Given the description of an element on the screen output the (x, y) to click on. 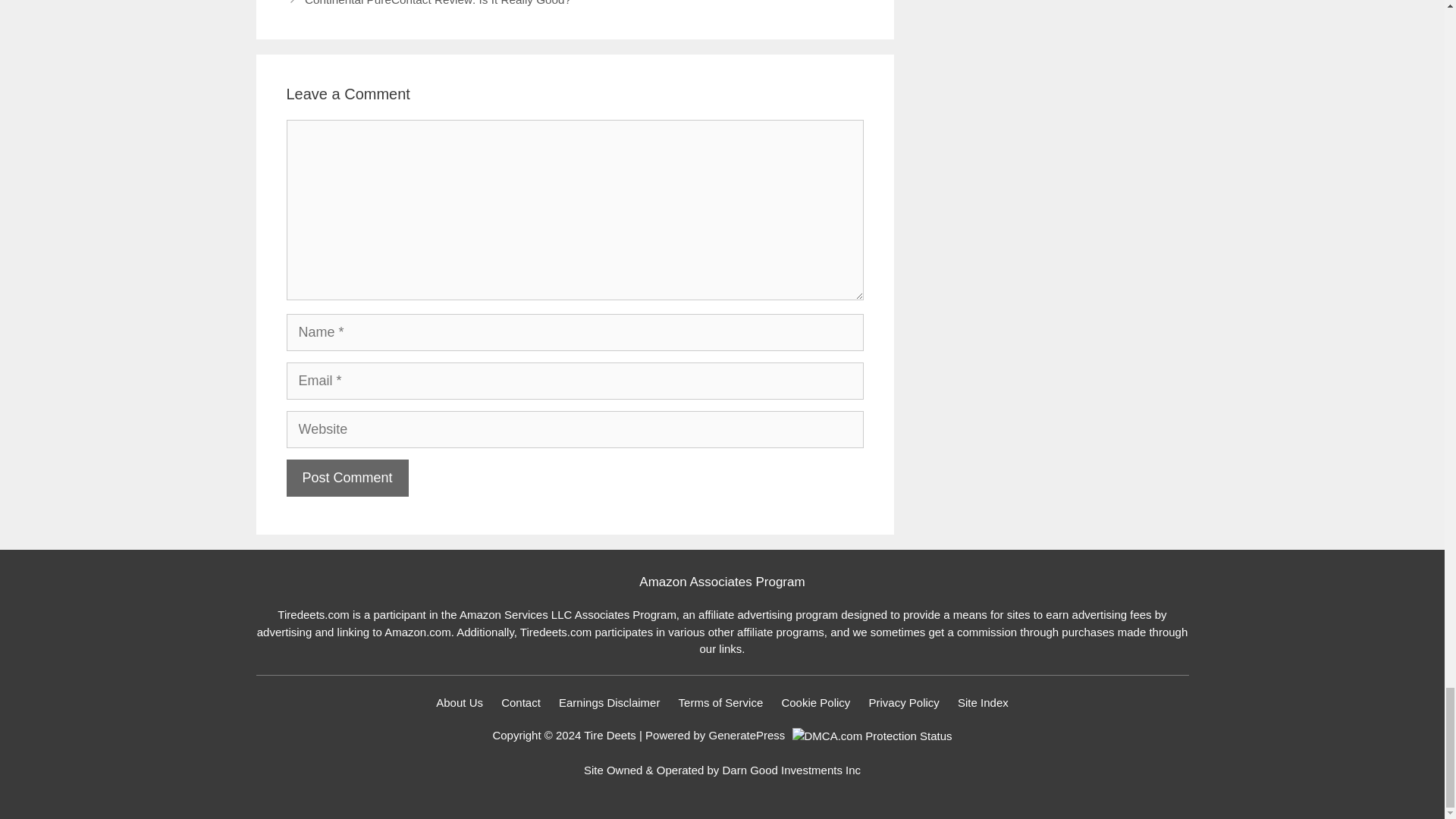
DMCA.com Protection Status (870, 735)
Post Comment (347, 477)
DMCA.com Protection Status (872, 736)
